Given the description of an element on the screen output the (x, y) to click on. 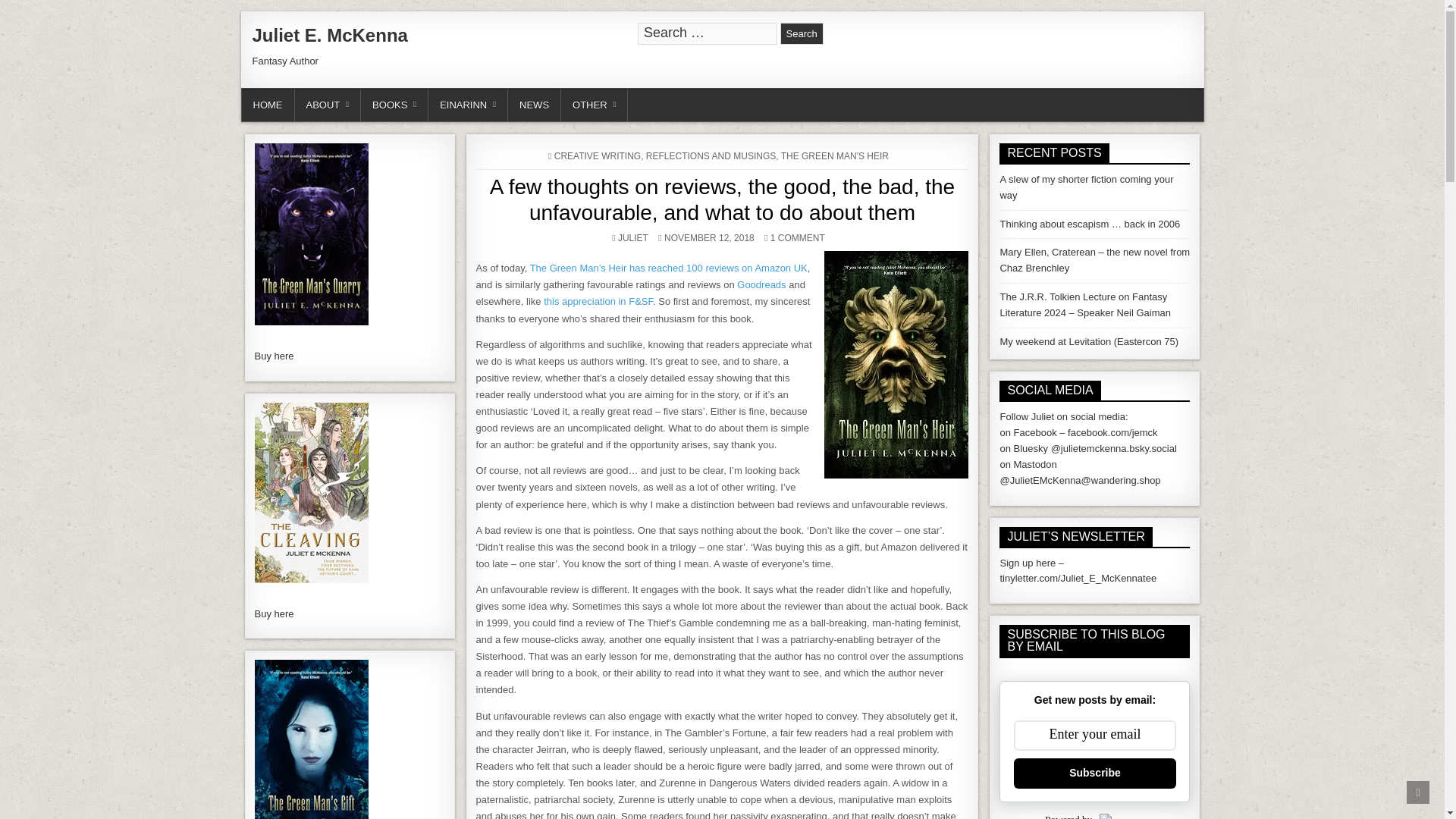
Juliet E. McKenna (329, 35)
Scroll to Top (1417, 792)
HOME (267, 104)
Search (802, 33)
Search (802, 33)
Search (802, 33)
ABOUT (327, 104)
Scroll to Top (1417, 792)
BOOKS (394, 104)
